Given the description of an element on the screen output the (x, y) to click on. 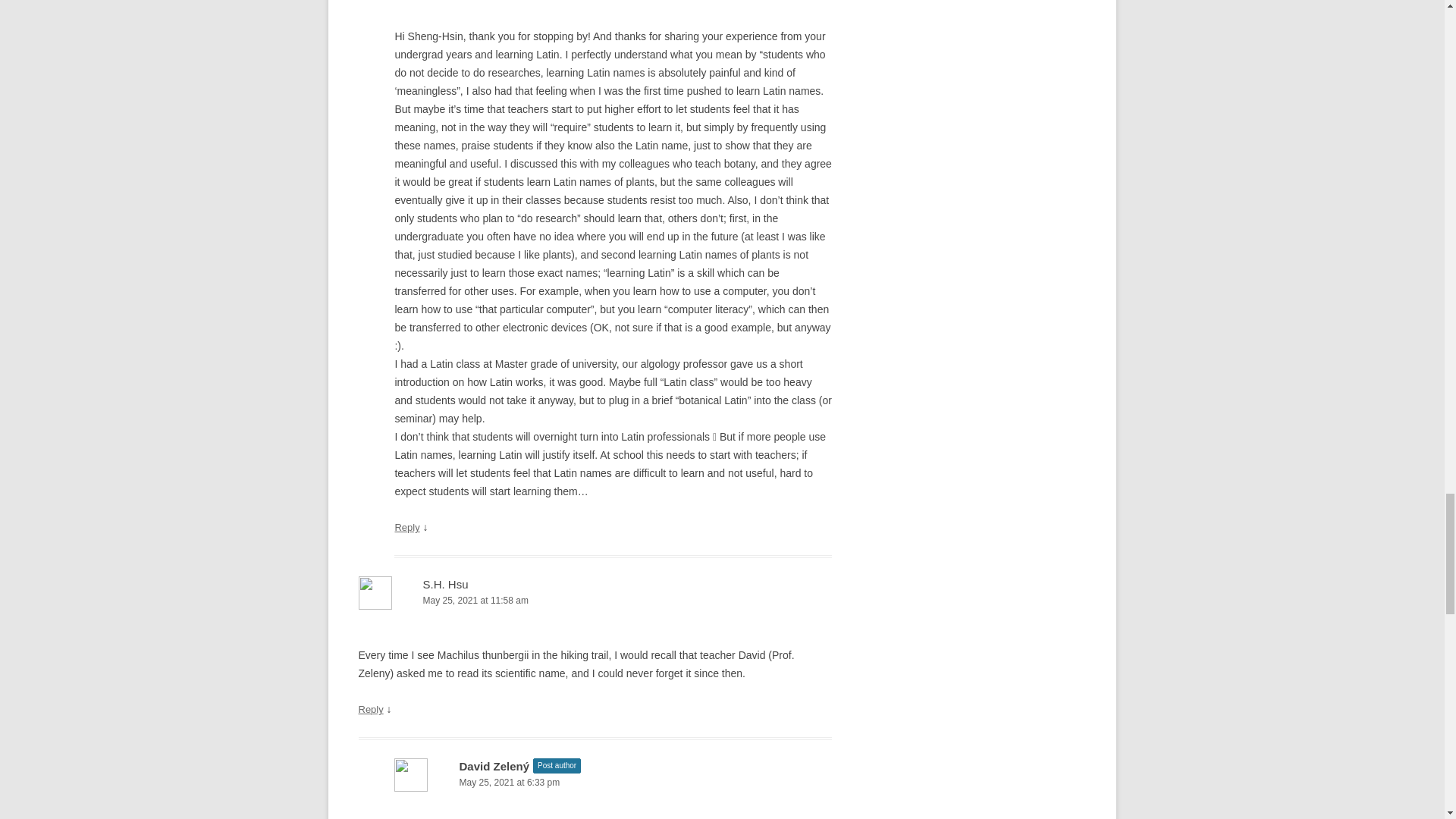
May 25, 2021 at 6:33 pm (612, 782)
Reply (406, 527)
Reply (370, 708)
May 25, 2021 at 11:58 am (594, 600)
